Given the description of an element on the screen output the (x, y) to click on. 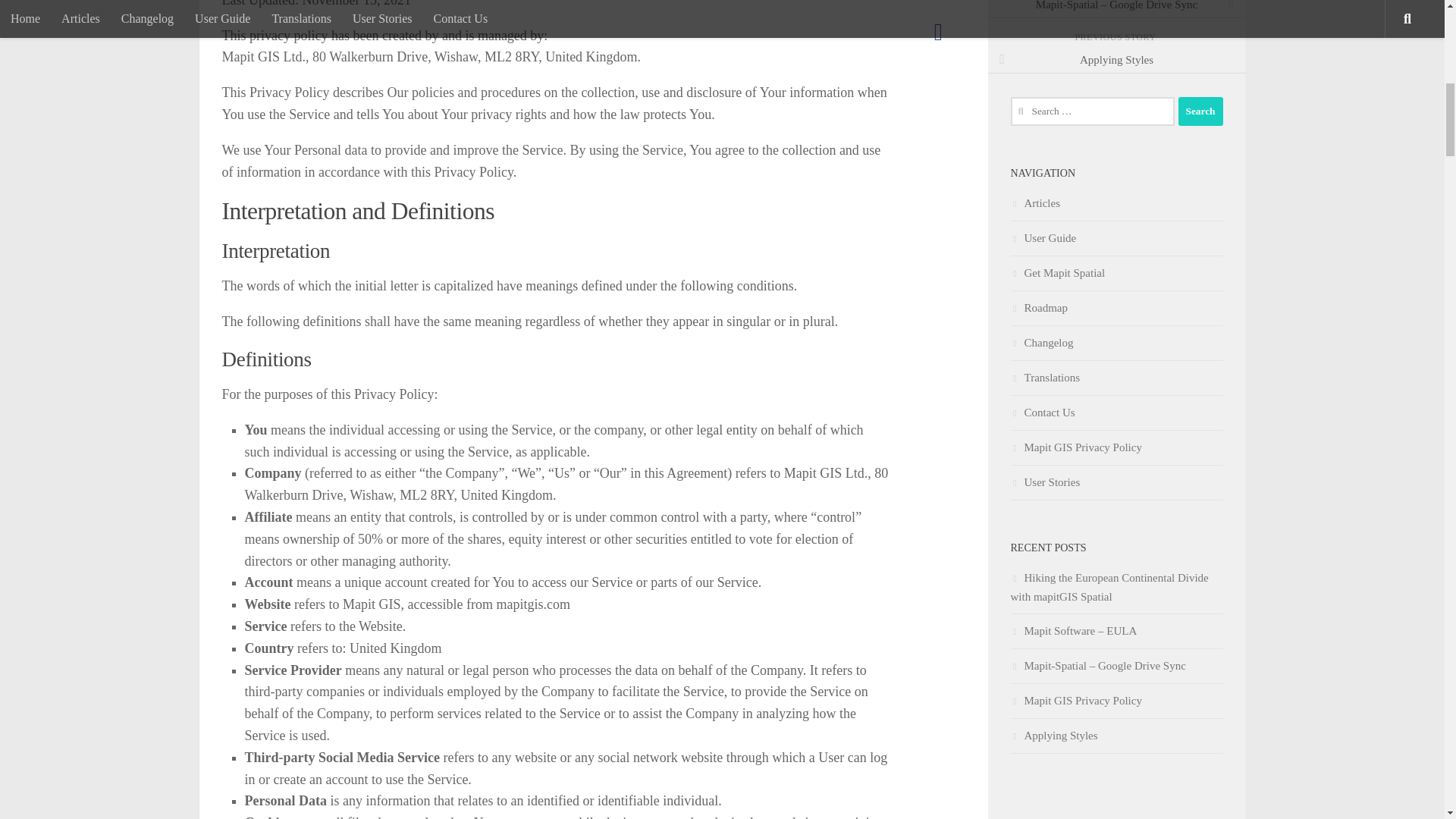
Search (1200, 111)
Search (1200, 111)
